Given the description of an element on the screen output the (x, y) to click on. 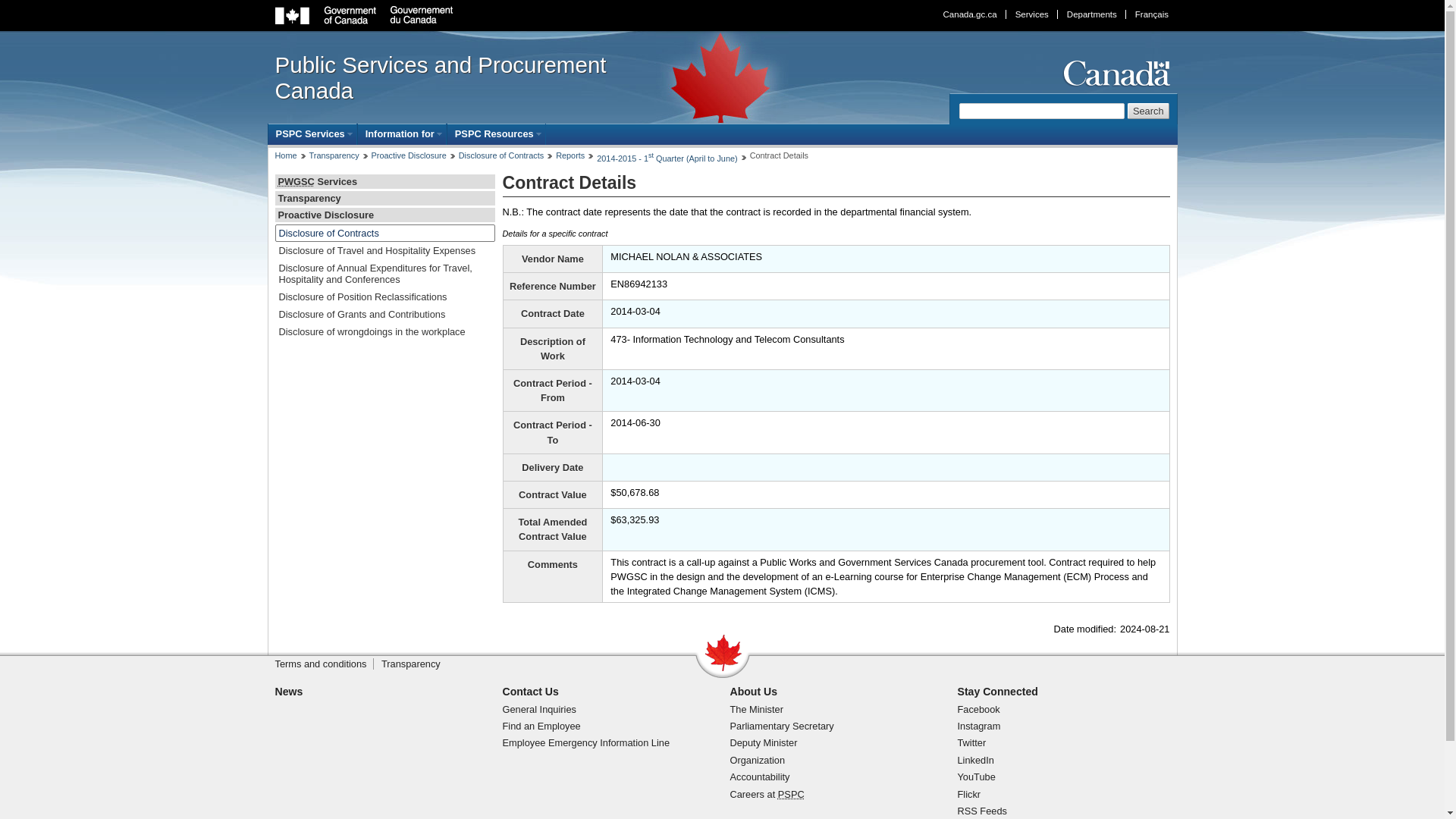
Skip to main content (726, 11)
Public Services and Procurement Canada (460, 78)
Symbol of the Government of Canada (1114, 72)
Public Services and Procurement Canada (791, 794)
Services (1031, 13)
Search (1147, 110)
Proactive Disclosure (408, 154)
Transparency  (333, 154)
Canada.gc.ca (970, 13)
Government of Canada (364, 14)
